Given the description of an element on the screen output the (x, y) to click on. 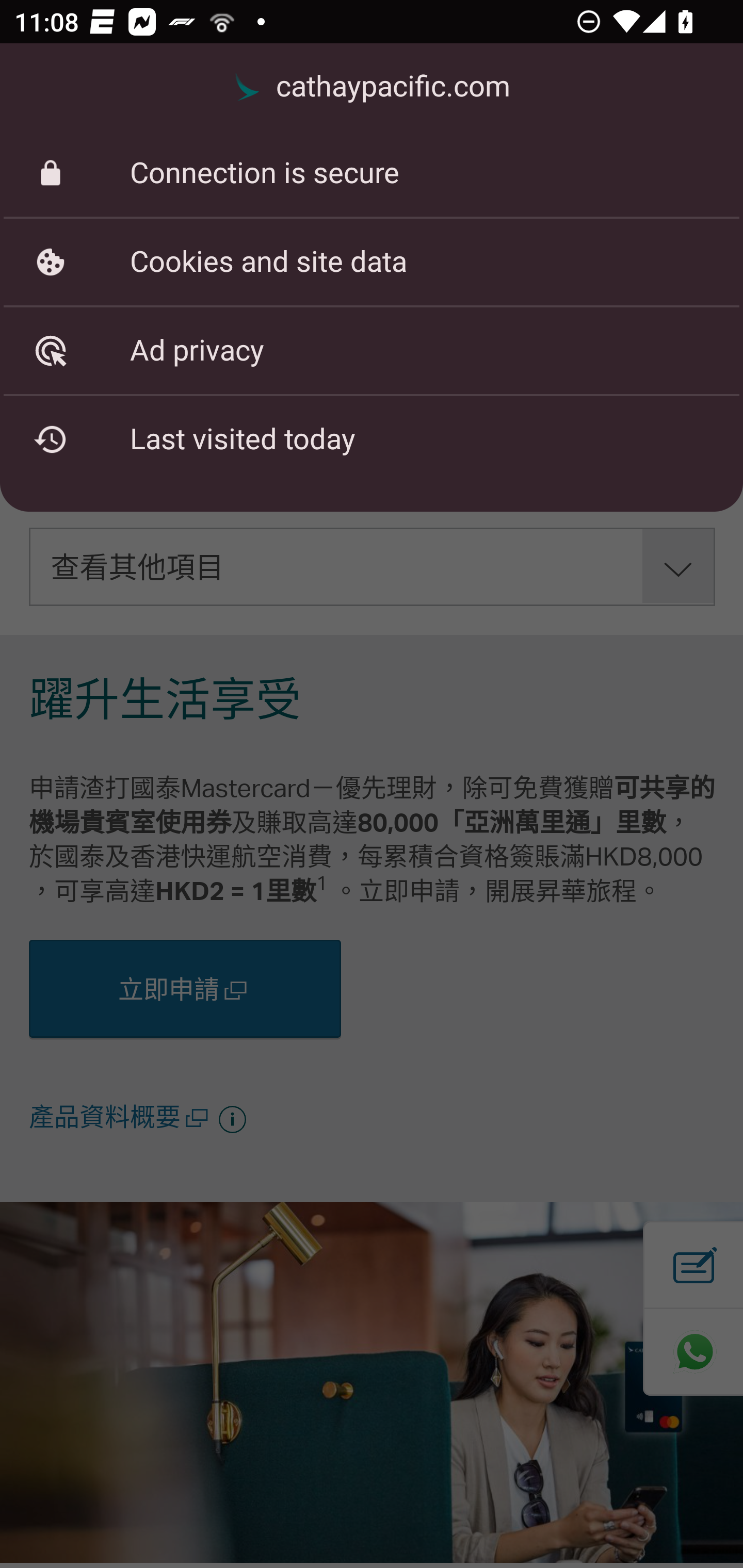
cathaypacific.com (371, 86)
Connection is secure (371, 173)
Cookies and site data (371, 261)
Ad privacy (371, 350)
Last visited today (371, 439)
